Given the description of an element on the screen output the (x, y) to click on. 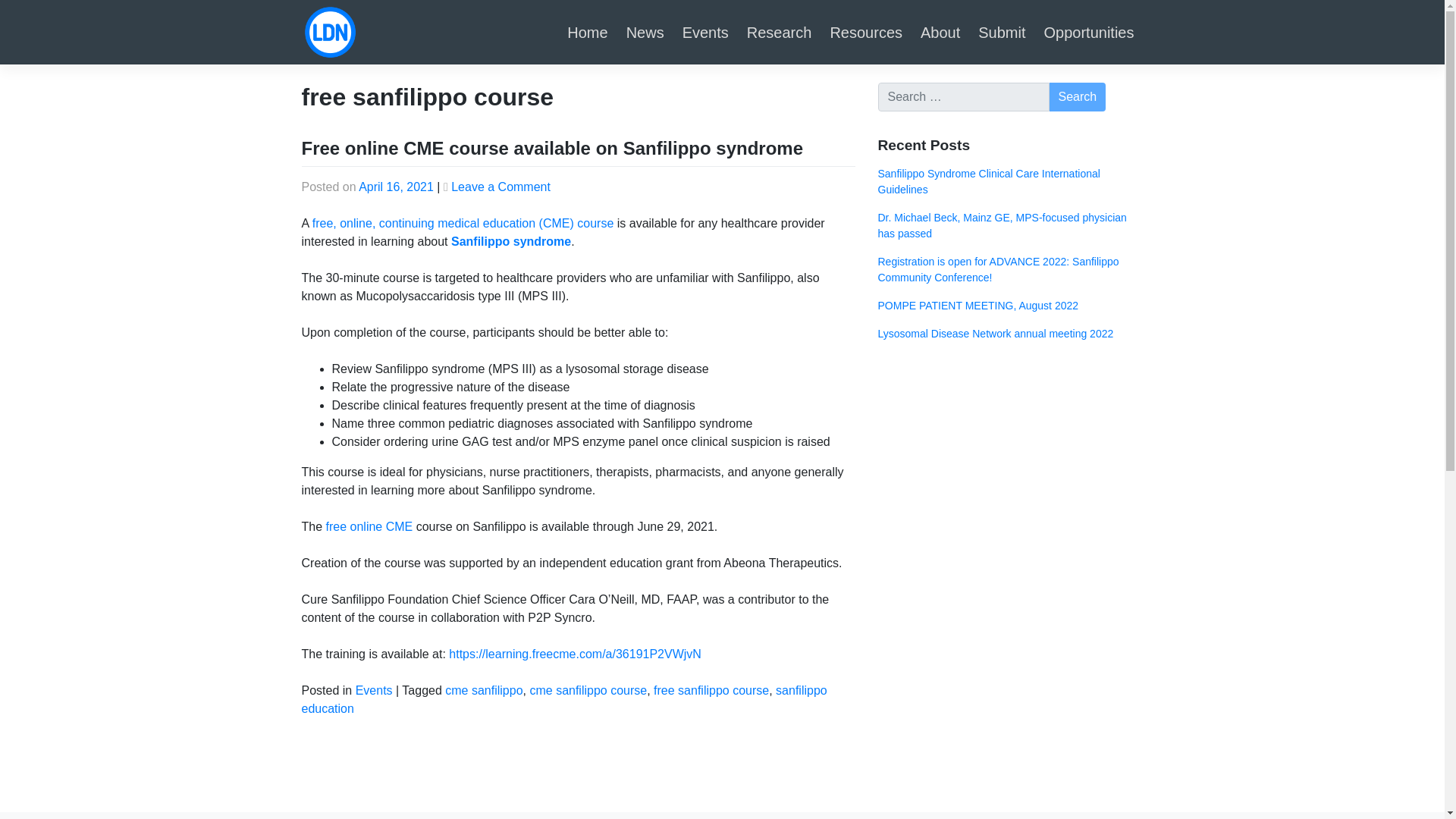
About (940, 32)
Search for: (963, 96)
News (644, 32)
Search (1077, 96)
Events (705, 32)
POMPE PATIENT MEETING, August 2022 (1009, 311)
Events (374, 689)
sanfilippo education (564, 698)
free, online, continuing (375, 223)
Events (705, 32)
Opportunities (1088, 32)
Search (1077, 96)
Resources (866, 32)
Search (1077, 96)
